Given the description of an element on the screen output the (x, y) to click on. 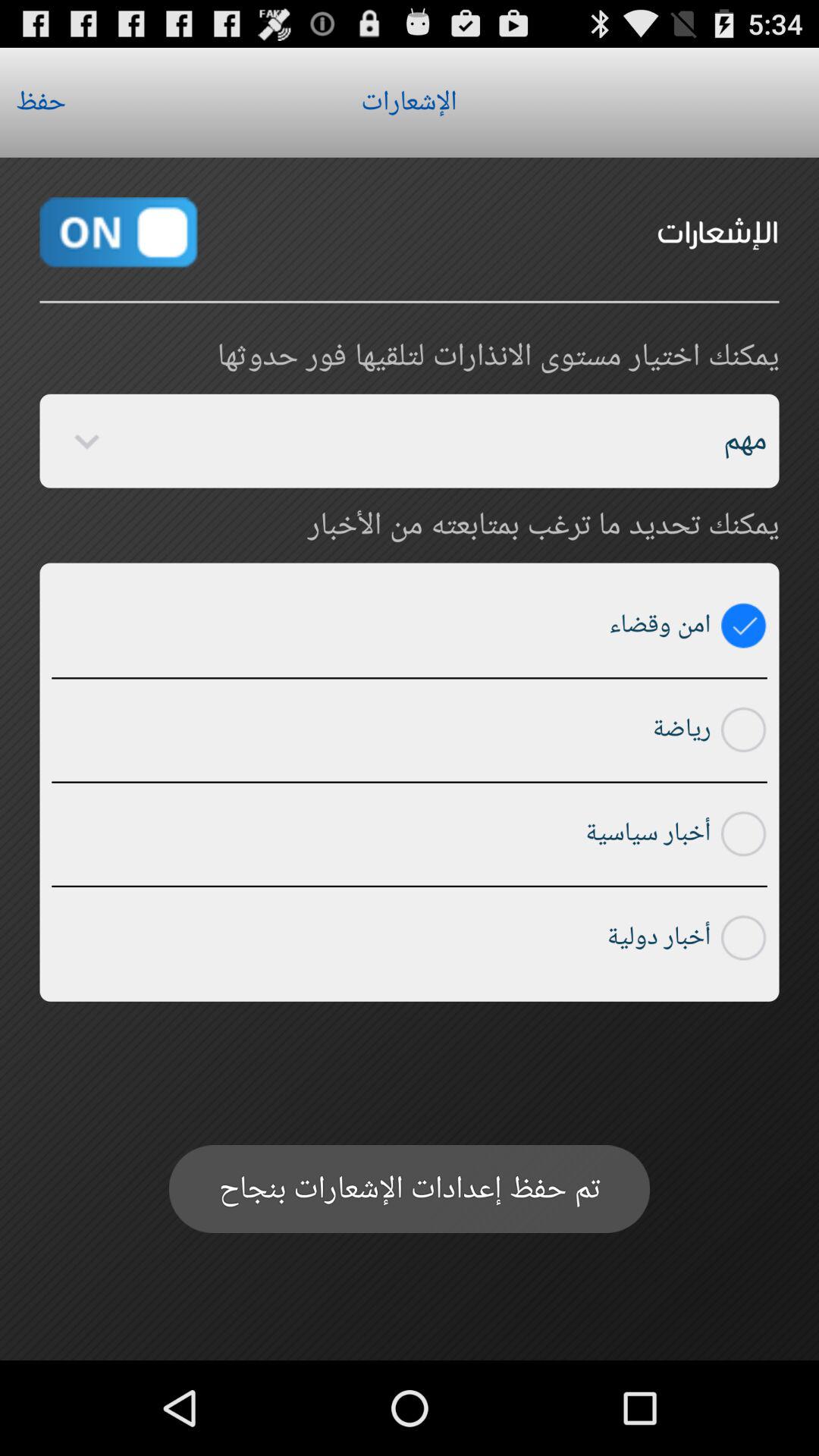
click on the second row from bottom (744, 833)
